Given the description of an element on the screen output the (x, y) to click on. 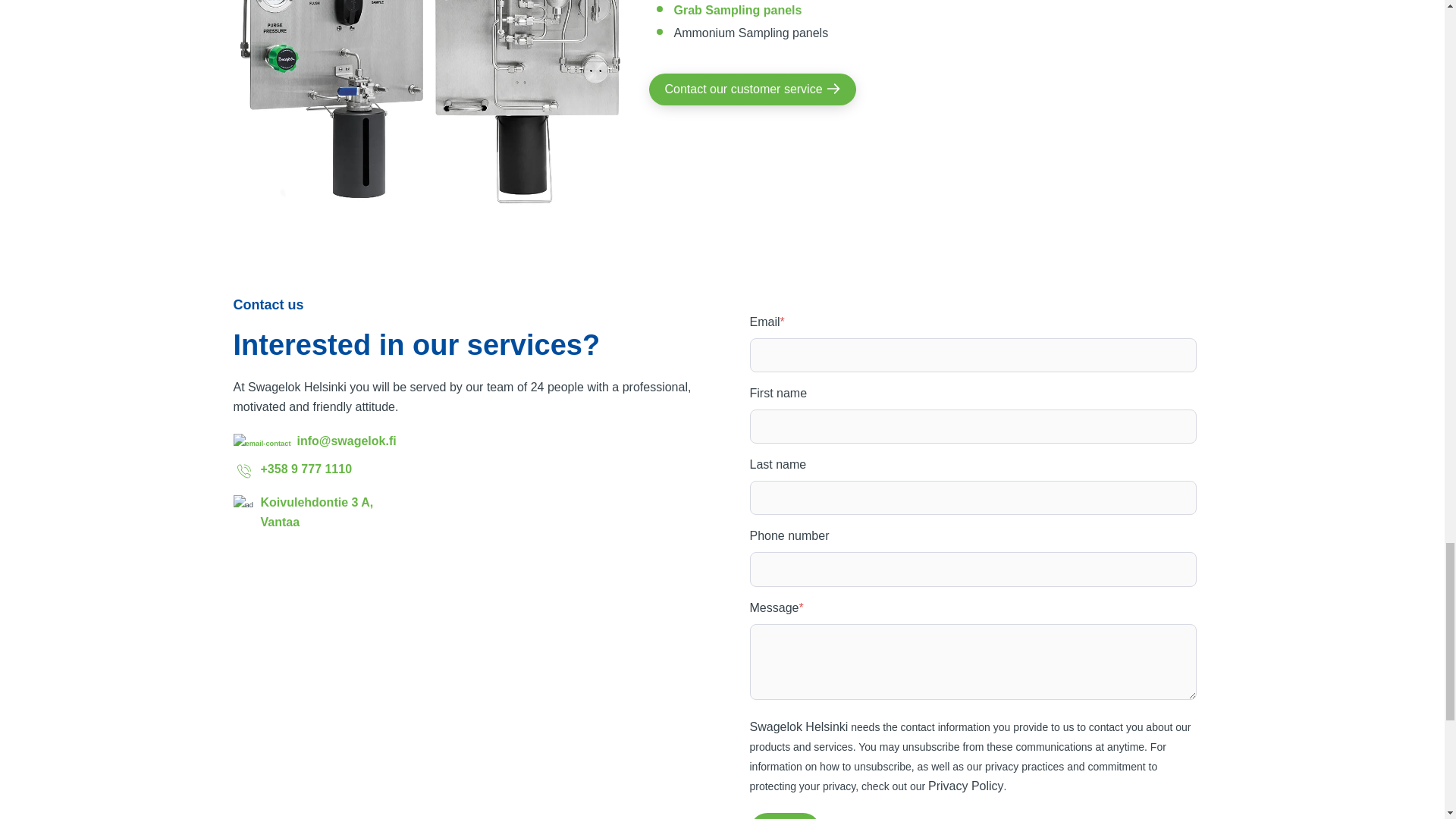
Submit (785, 816)
